Given the description of an element on the screen output the (x, y) to click on. 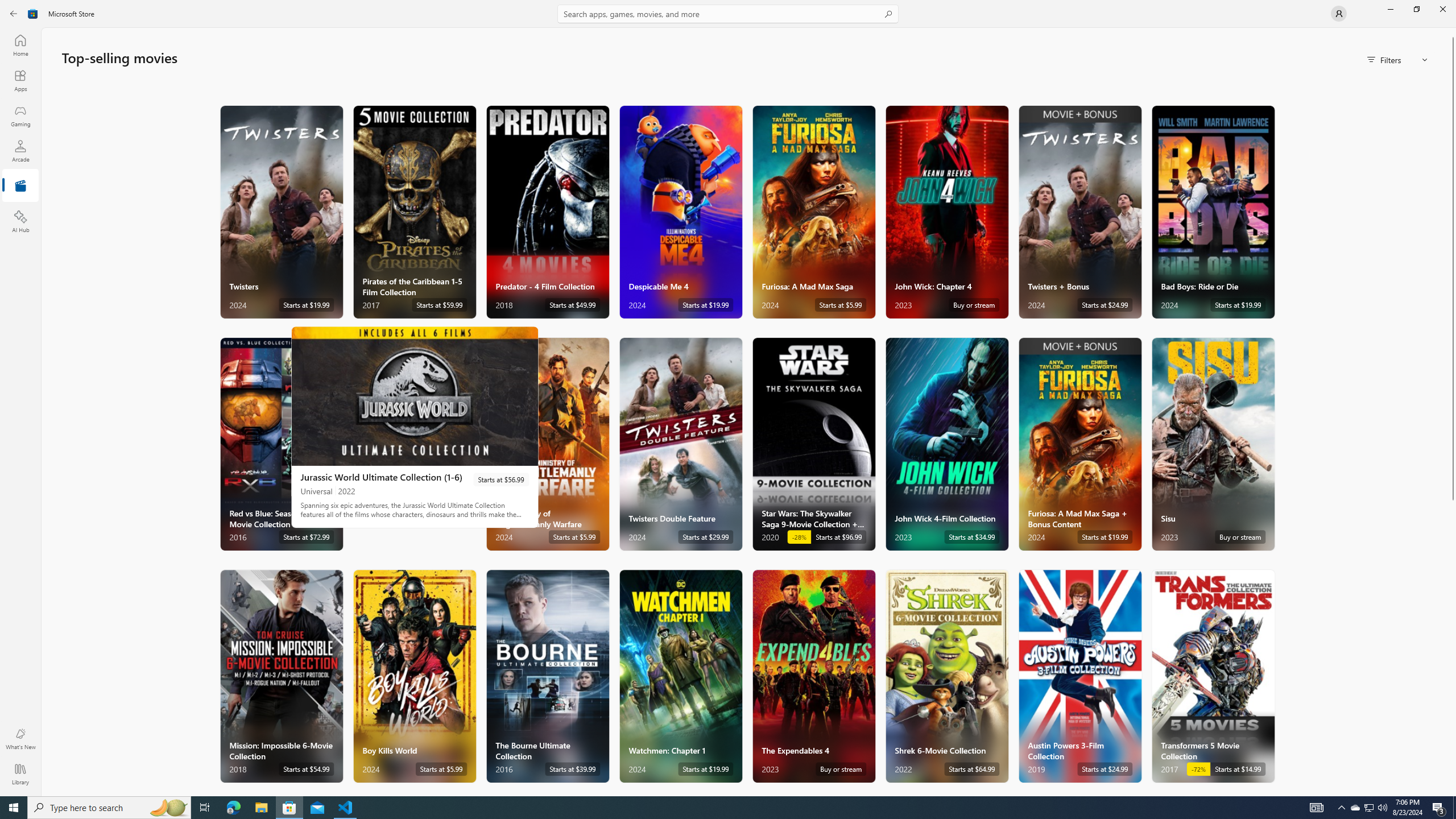
Search (727, 13)
Twisters Double Feature. Starts at $29.99   (680, 444)
Library (20, 773)
Arcade (20, 150)
Restore Microsoft Store (1416, 9)
Furiosa: A Mad Max Saga + Bonus Content. Starts at $19.99   (1079, 444)
Apps (20, 80)
What's New (20, 738)
Class: Image (32, 13)
Home (20, 45)
Jurassic World Ultimate Collection (1-6). Starts at $56.99   (414, 426)
